Given the description of an element on the screen output the (x, y) to click on. 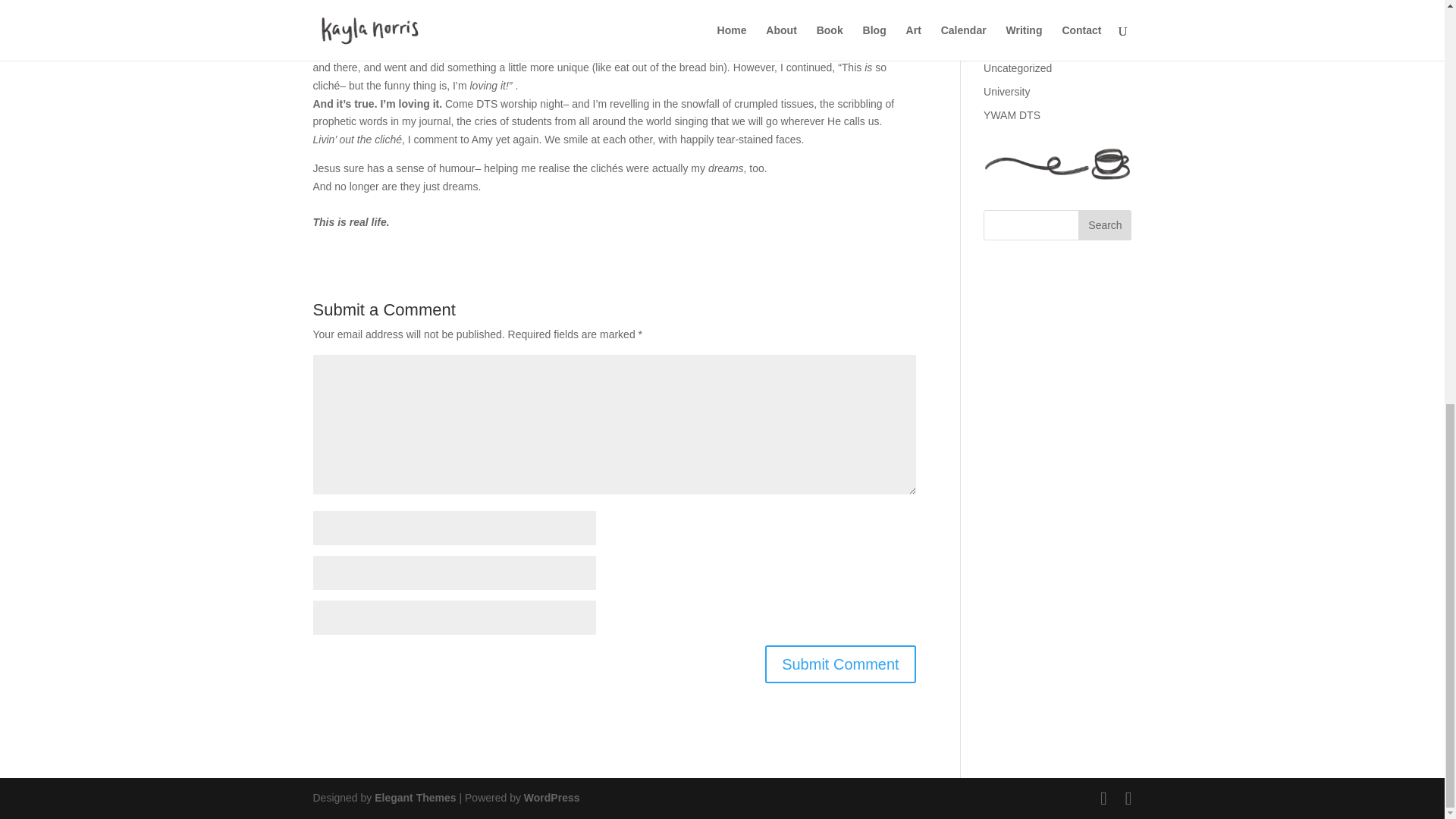
Submit Comment (840, 664)
Relationships (1015, 21)
Search (1104, 224)
Submit Comment (840, 664)
Premium WordPress Themes (414, 797)
The Creative Heart (1028, 44)
